Given the description of an element on the screen output the (x, y) to click on. 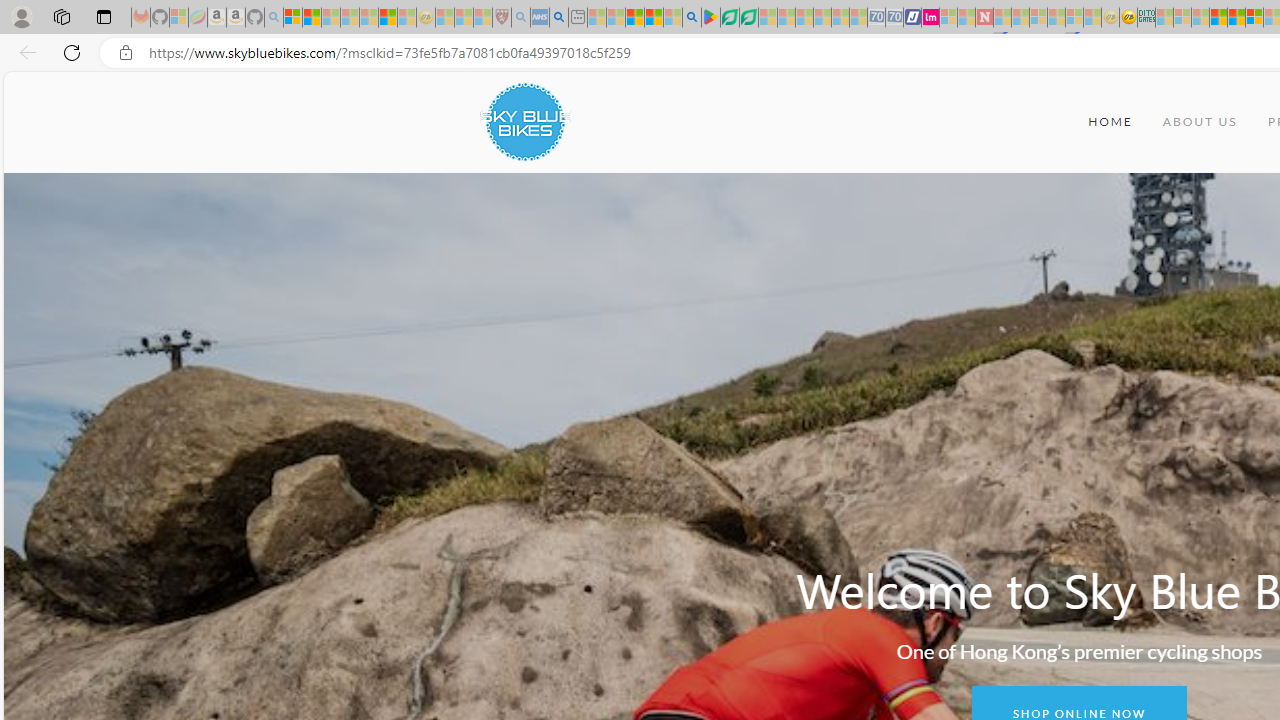
14 Common Myths Debunked By Scientific Facts - Sleeping (1020, 17)
utah sues federal government - Search (559, 17)
Jobs - lastminute.com Investor Portal (930, 17)
NCL Adult Asthma Inhaler Choice Guideline - Sleeping (540, 17)
Latest Politics News & Archive | Newsweek.com - Sleeping (984, 17)
Local - MSN - Sleeping (482, 17)
New Report Confirms 2023 Was Record Hot | Watch - Sleeping (368, 17)
HOME (1110, 122)
ABOUT US (1199, 122)
